Given the description of an element on the screen output the (x, y) to click on. 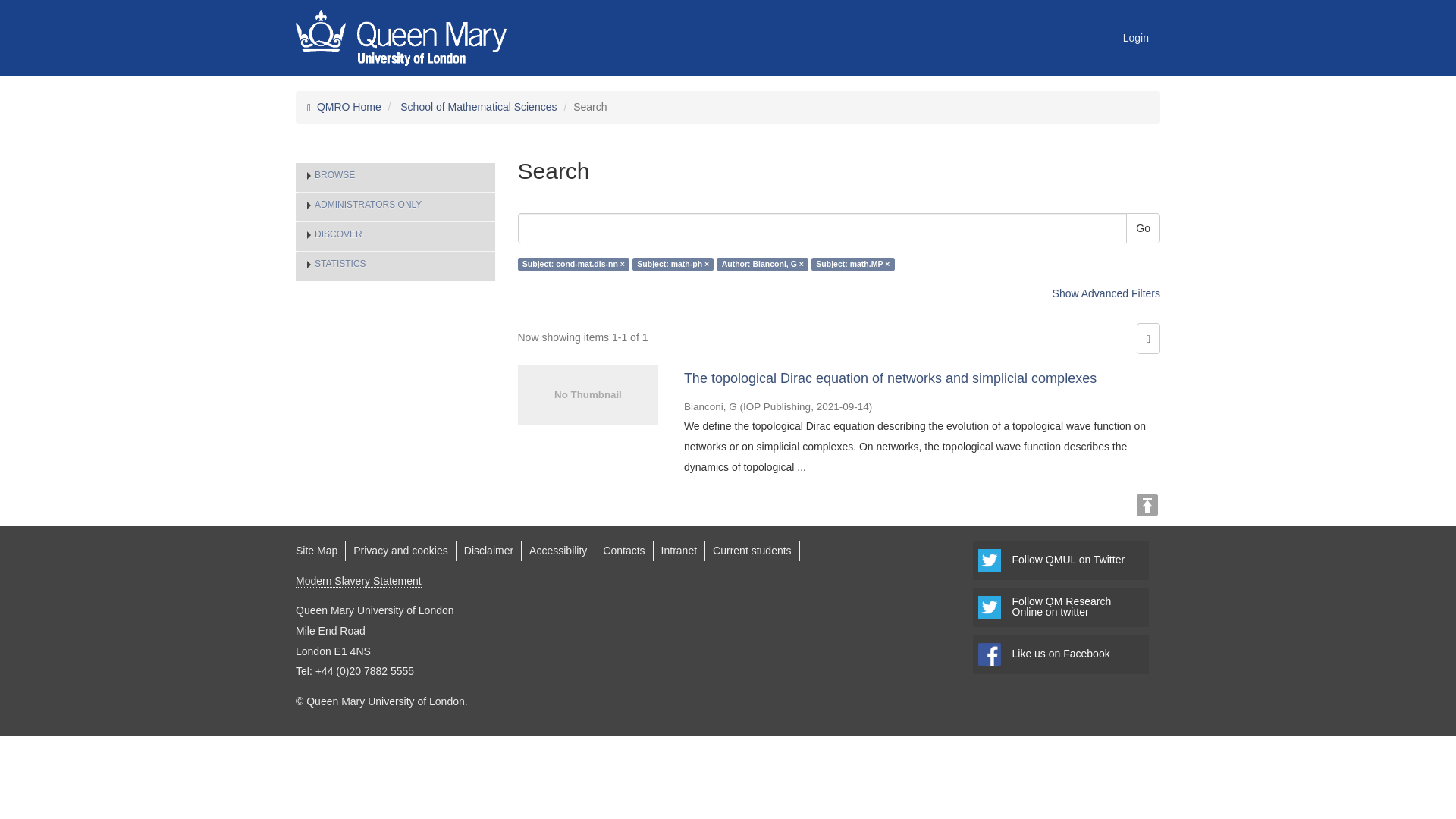
Detailed site map (316, 550)
School of Mathematical Sciences (478, 106)
QMRO Home (349, 106)
Show Advanced Filters (1106, 293)
Disability and accessibility statement (557, 550)
Disclaimer (488, 550)
Go (1142, 228)
Contact details for general enquiries (623, 550)
Privacy and data protection statement (400, 550)
